Given the description of an element on the screen output the (x, y) to click on. 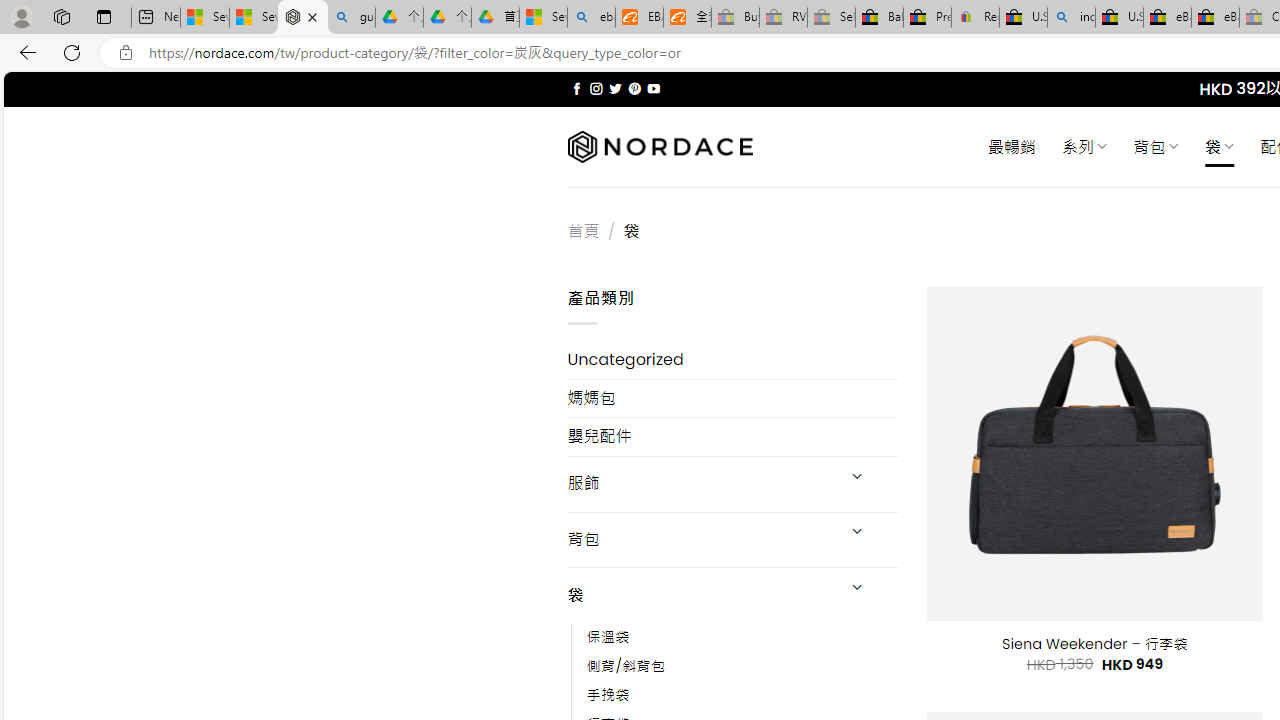
Sell worldwide with eBay - Sleeping (831, 17)
Press Room - eBay Inc. (927, 17)
Follow on Facebook (576, 88)
Follow on Instagram (596, 88)
